Given the description of an element on the screen output the (x, y) to click on. 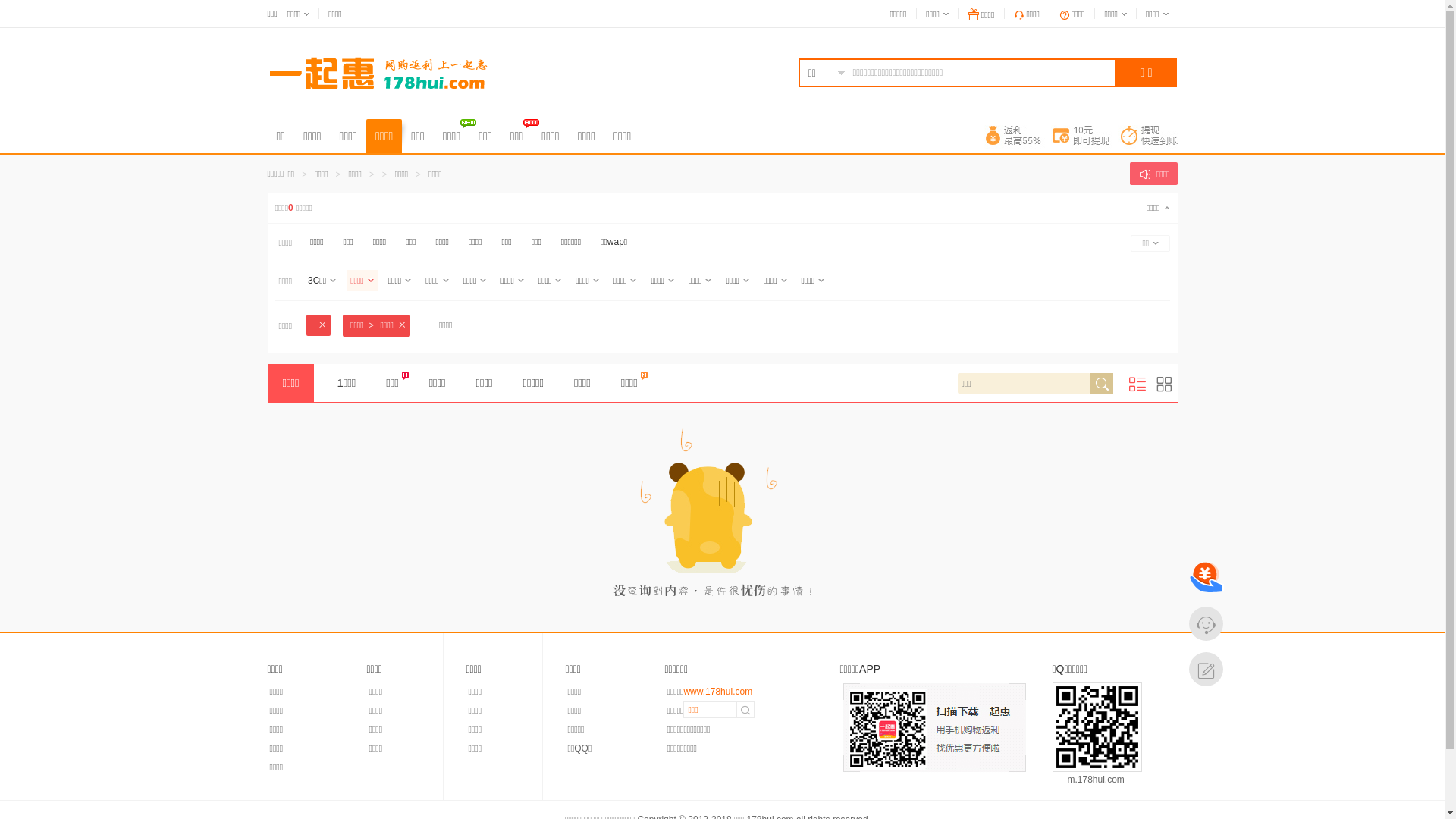
www.178hui.com Element type: text (717, 691)
